Given the description of an element on the screen output the (x, y) to click on. 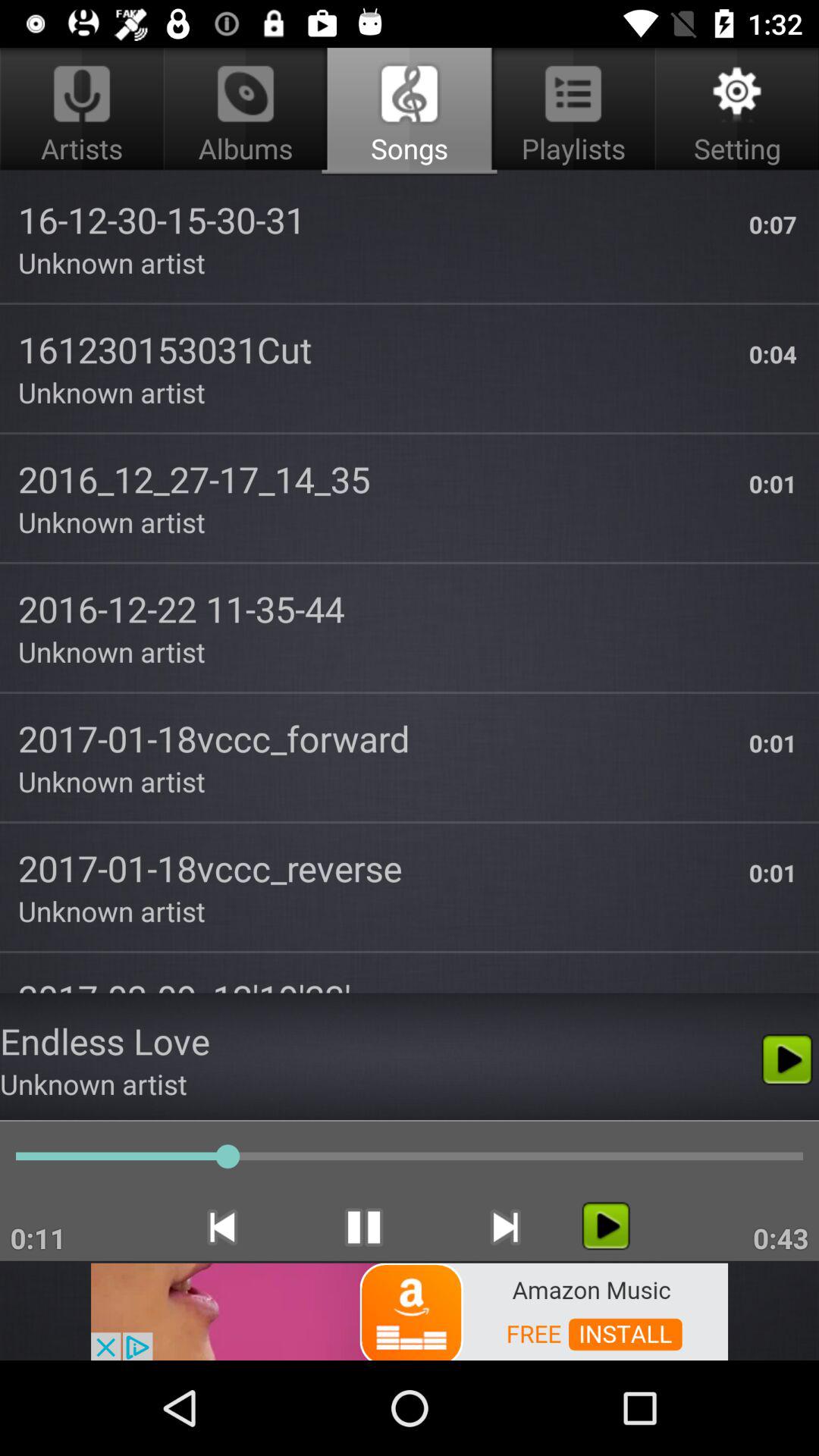
advertisement (409, 1310)
